Given the description of an element on the screen output the (x, y) to click on. 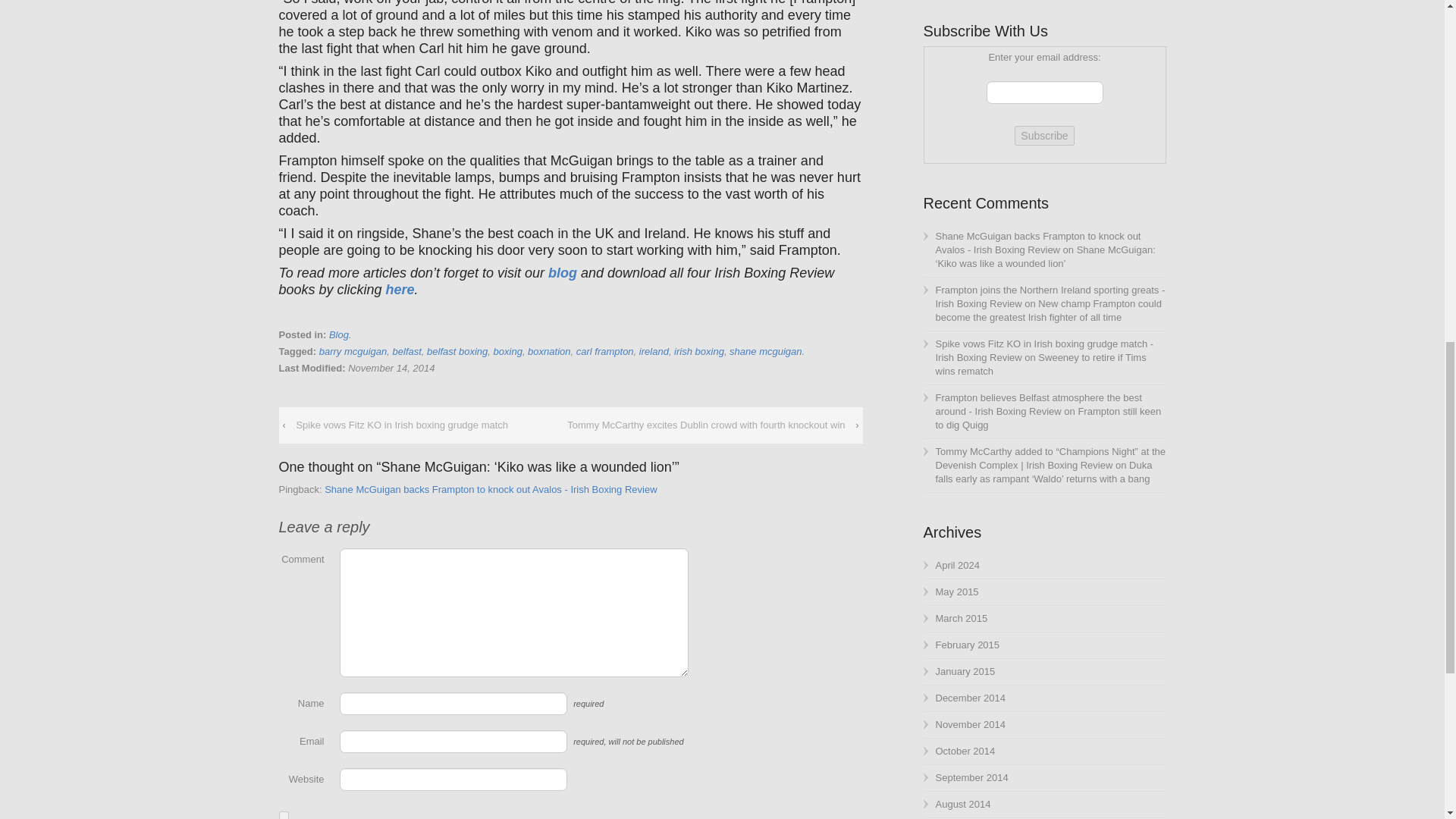
boxing (507, 351)
Subscribe (1044, 135)
boxnation (548, 351)
carl frampton (604, 351)
Subscribe (1044, 135)
ireland (653, 351)
here (399, 289)
yes (283, 815)
Spike vows Fitz KO in Irish boxing grudge match (401, 425)
